Given the description of an element on the screen output the (x, y) to click on. 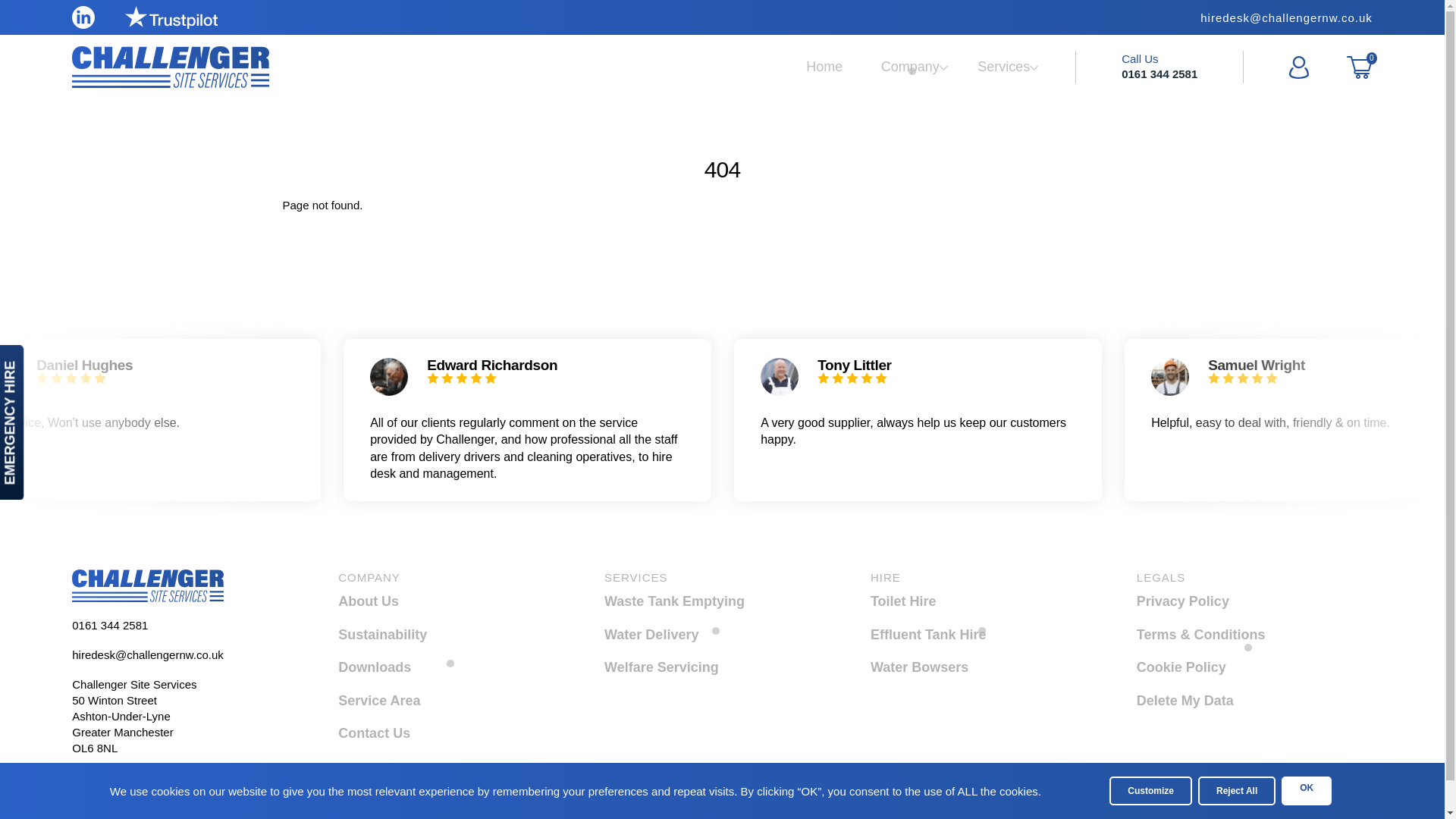
Home (436, 667)
TrustPilot (824, 66)
Challenger Site Services (170, 16)
LinkedIn (147, 585)
EMERGENCY HIRE (1361, 816)
LinkedIn (75, 358)
Company (82, 16)
Challenger Site Services (909, 66)
Services (968, 634)
